Given the description of an element on the screen output the (x, y) to click on. 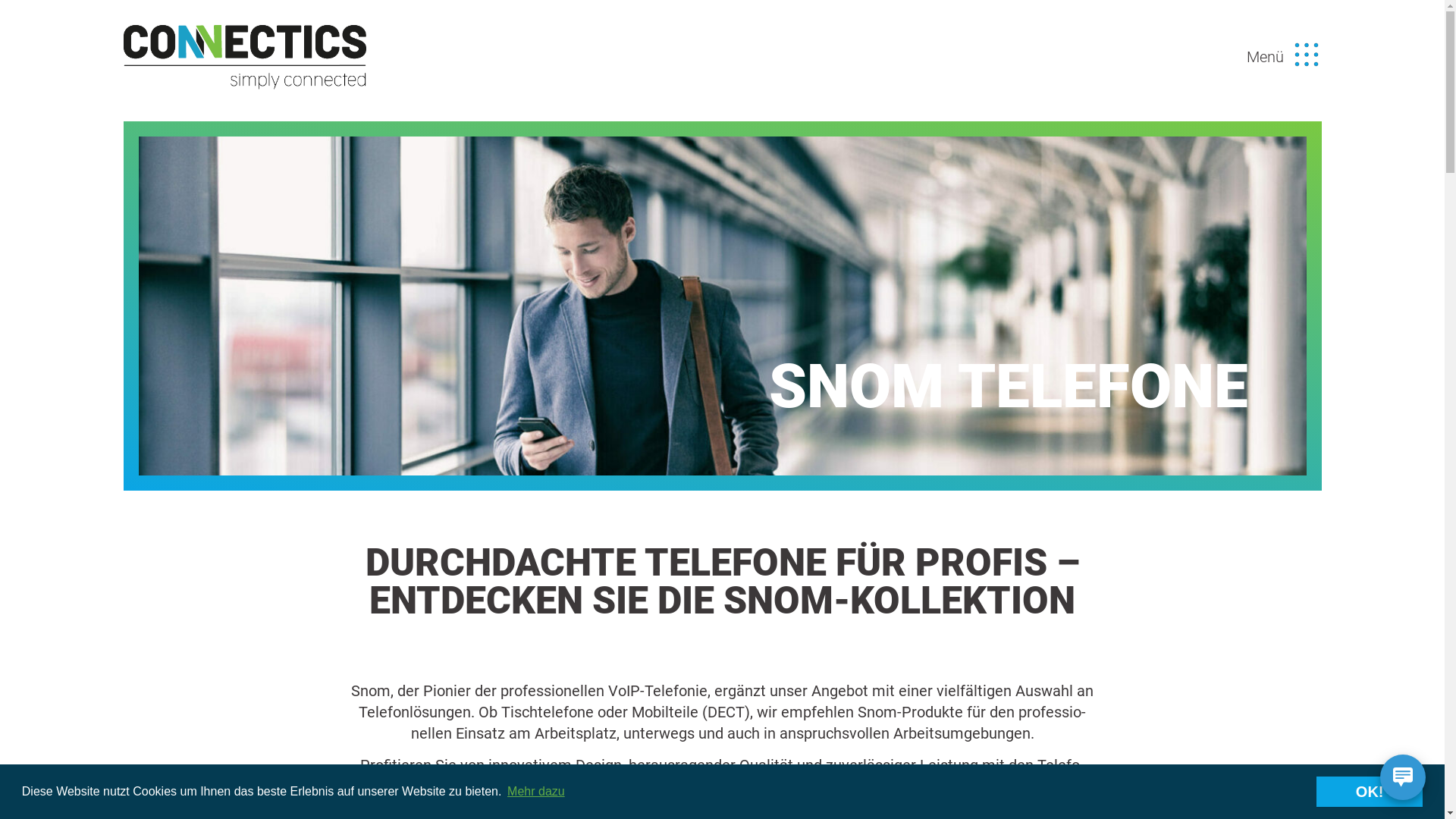
Mehr dazu Element type: text (536, 792)
OK! Element type: text (1369, 791)
